Given the description of an element on the screen output the (x, y) to click on. 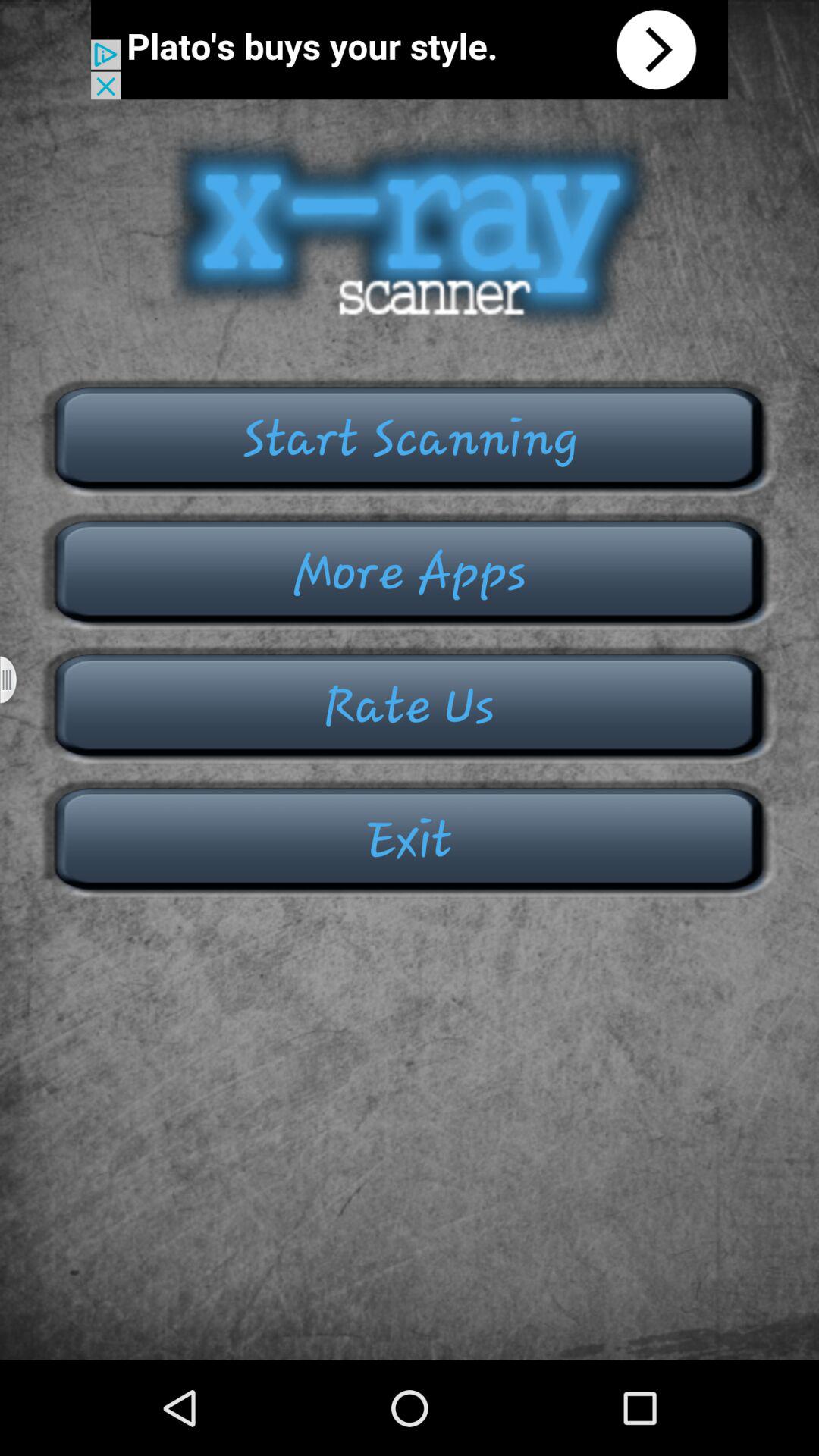
go to next (409, 49)
